Given the description of an element on the screen output the (x, y) to click on. 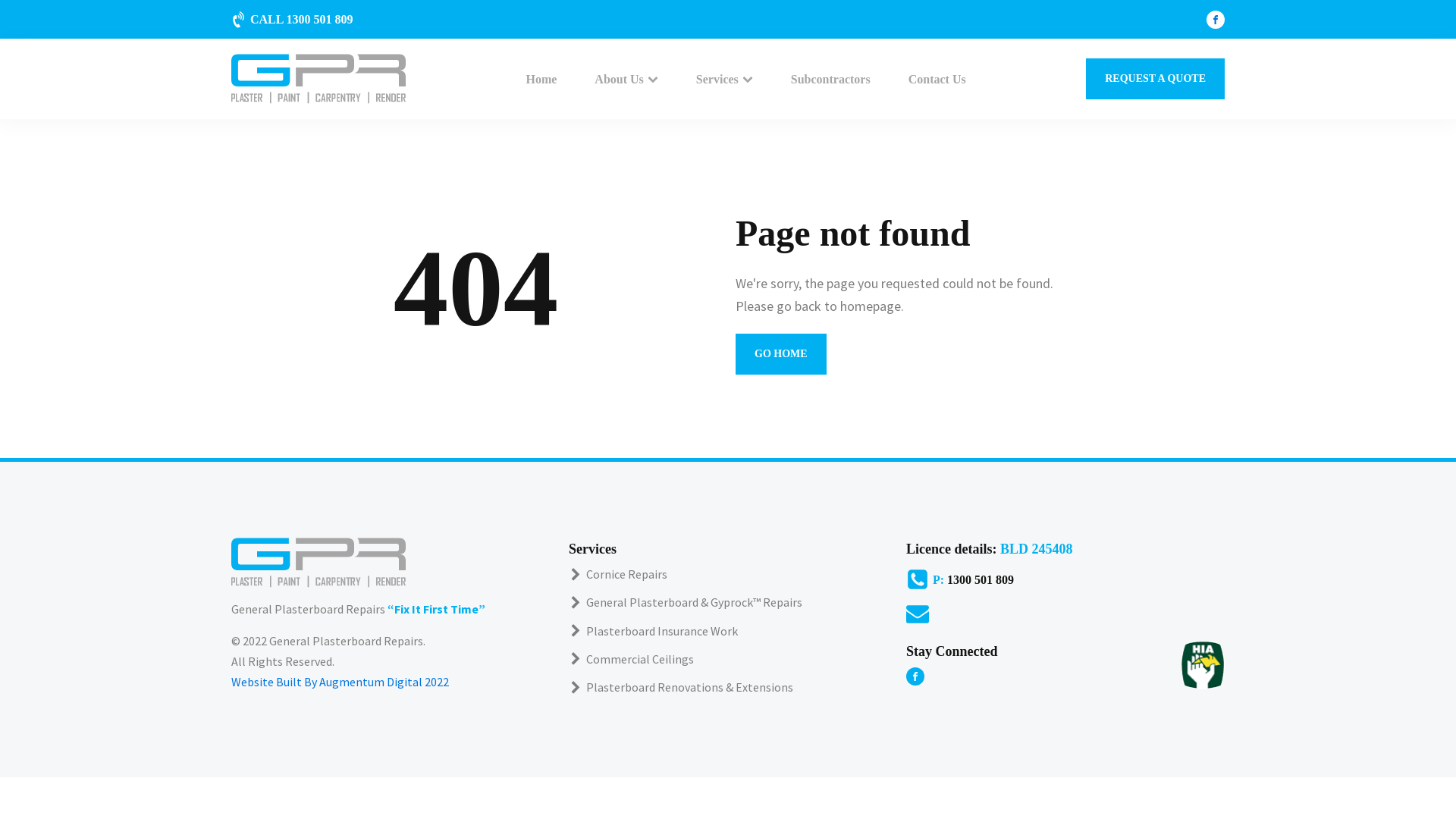
Subcontractors Element type: text (830, 79)
Services Element type: text (724, 79)
About Us Element type: text (625, 79)
Contact Us Element type: text (937, 79)
REQUEST A QUOTE Element type: text (1154, 78)
GO HOME Element type: text (780, 353)
Home Element type: text (540, 79)
CALL 1300 501 809 Element type: text (292, 19)
Website Built By Augmentum Digital 2022 Element type: text (339, 681)
P: 1300 501 809 Element type: text (1065, 579)
